Given the description of an element on the screen output the (x, y) to click on. 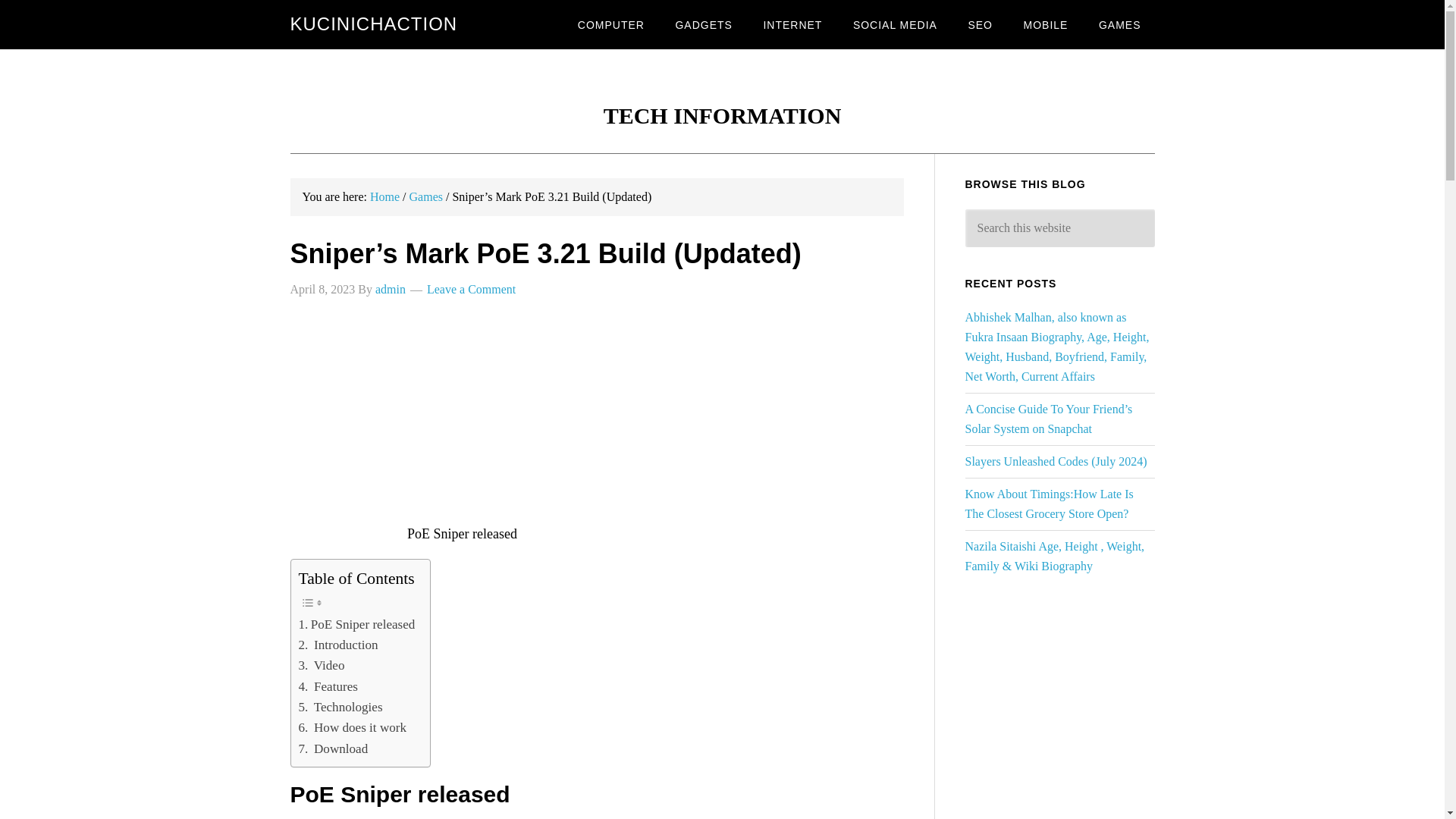
GAMES (1119, 24)
SOCIAL MEDIA (895, 24)
Leave a Comment (470, 288)
COMPUTER (611, 24)
MOBILE (1045, 24)
PoE Sniper released (356, 624)
Home (383, 196)
 How does it work (352, 727)
Games (425, 196)
KUCINICHACTION (373, 23)
admin (390, 288)
SEO (979, 24)
